Given the description of an element on the screen output the (x, y) to click on. 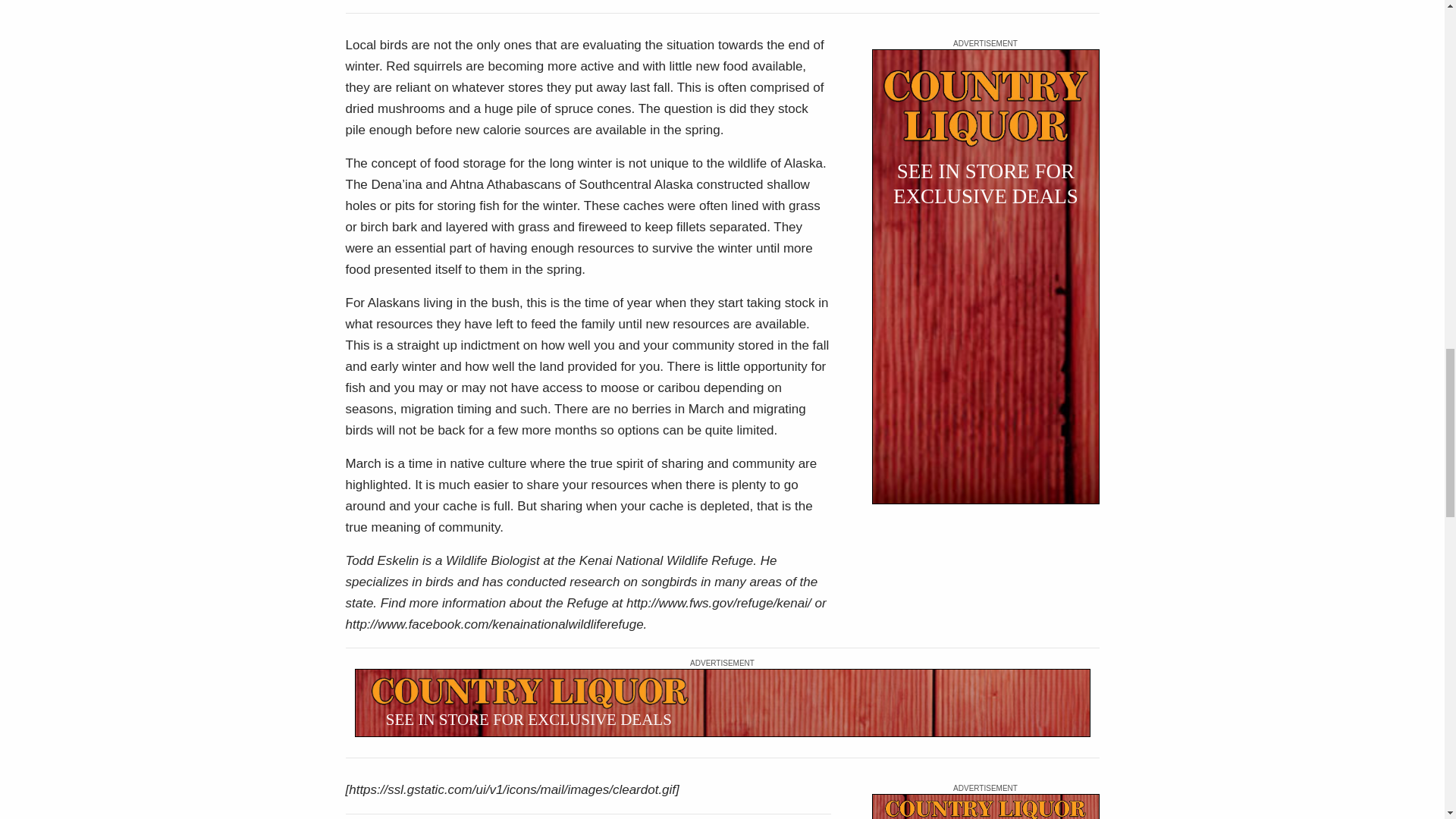
3rd party ad content (985, 276)
3rd party ad content (722, 703)
3rd party ad content (985, 806)
